Given the description of an element on the screen output the (x, y) to click on. 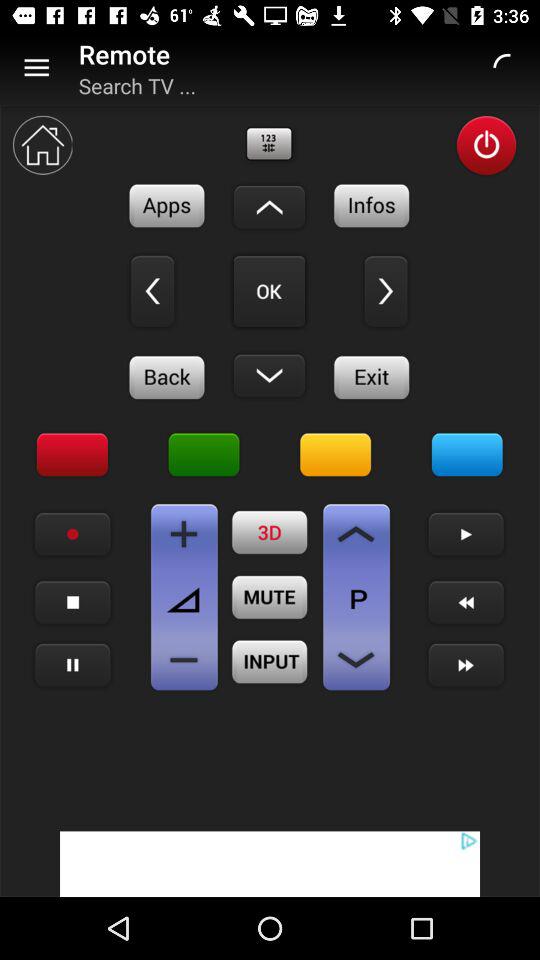
ok or enter on remote (269, 291)
